Given the description of an element on the screen output the (x, y) to click on. 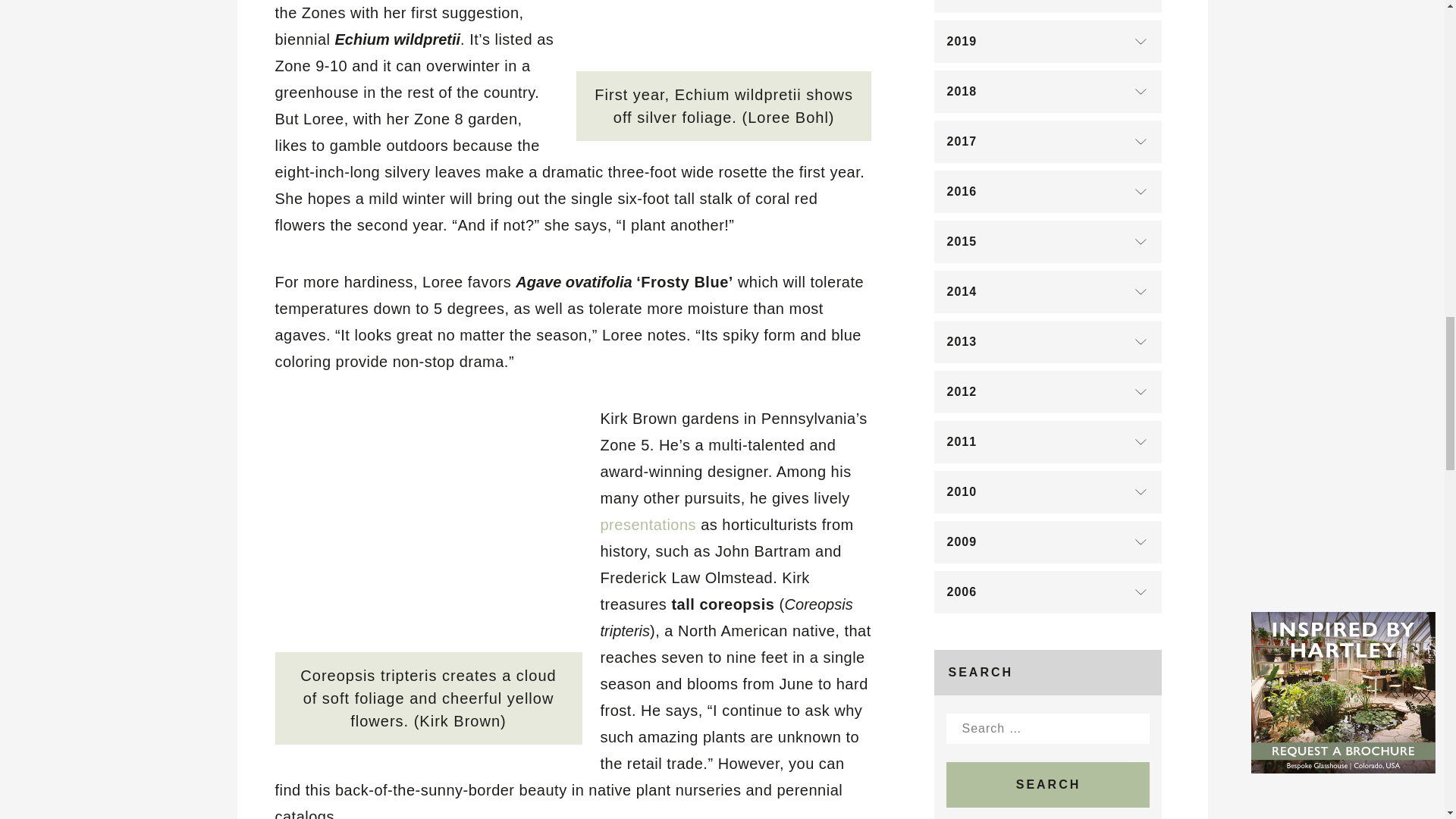
Search (1048, 783)
Search (1048, 783)
